Given the description of an element on the screen output the (x, y) to click on. 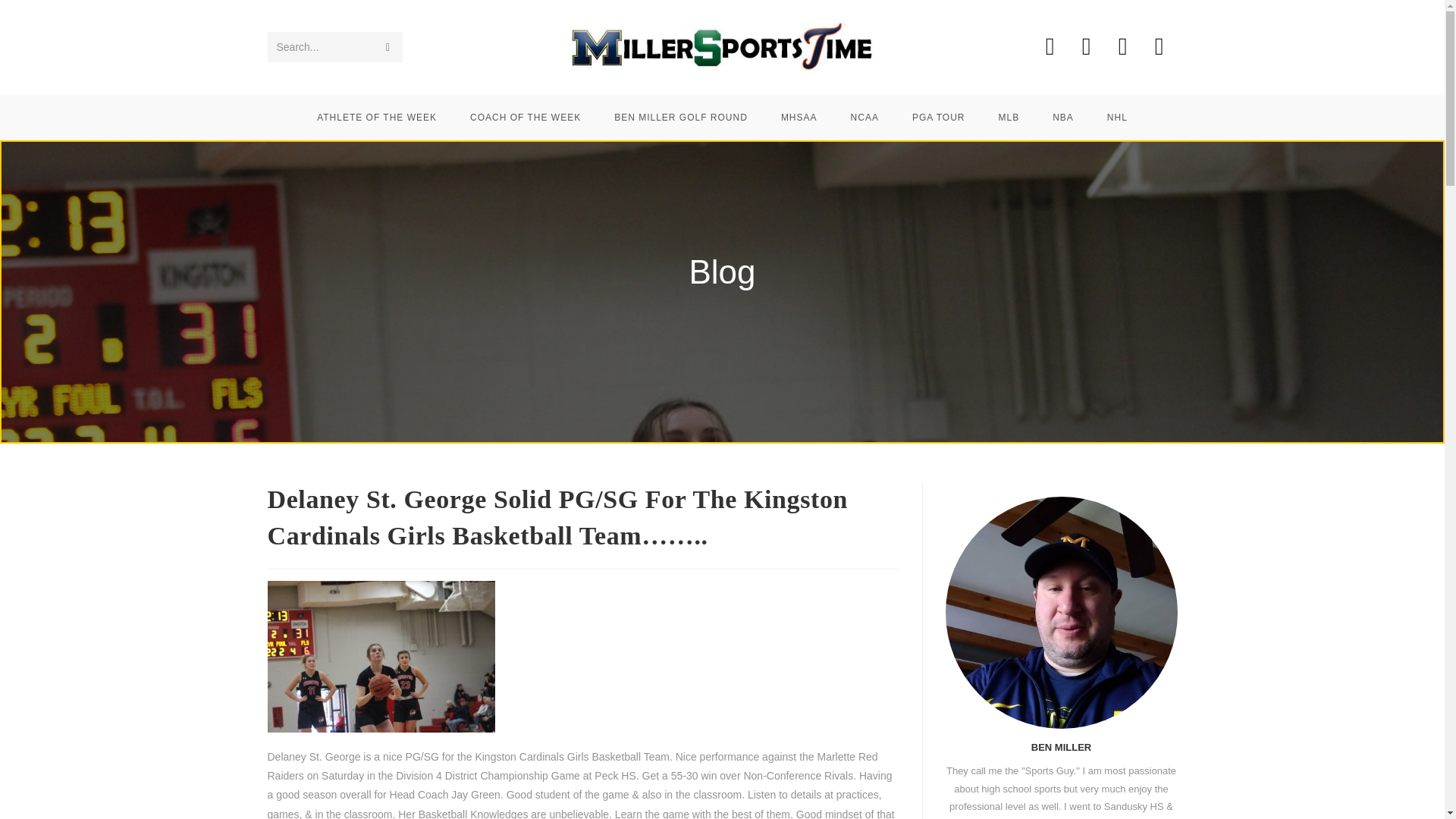
MLB (1008, 117)
COACH OF THE WEEK (524, 117)
NHL (1117, 117)
NCAA (864, 117)
ATHLETE OF THE WEEK (375, 117)
PGA TOUR (938, 117)
BEN MILLER GOLF ROUND (680, 117)
MHSAA (799, 117)
NBA (1062, 117)
